Given the description of an element on the screen output the (x, y) to click on. 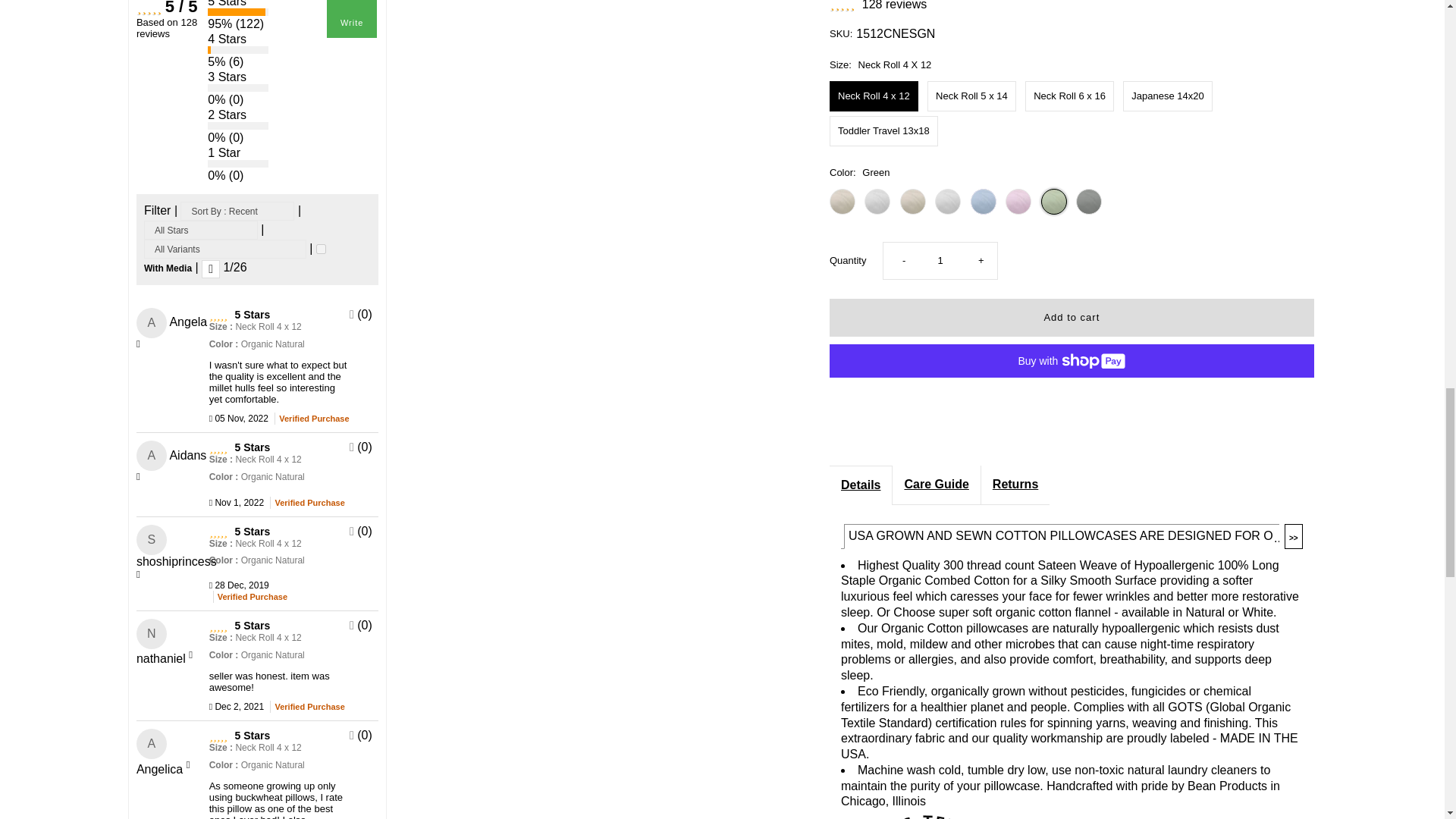
1 (320, 248)
